Given the description of an element on the screen output the (x, y) to click on. 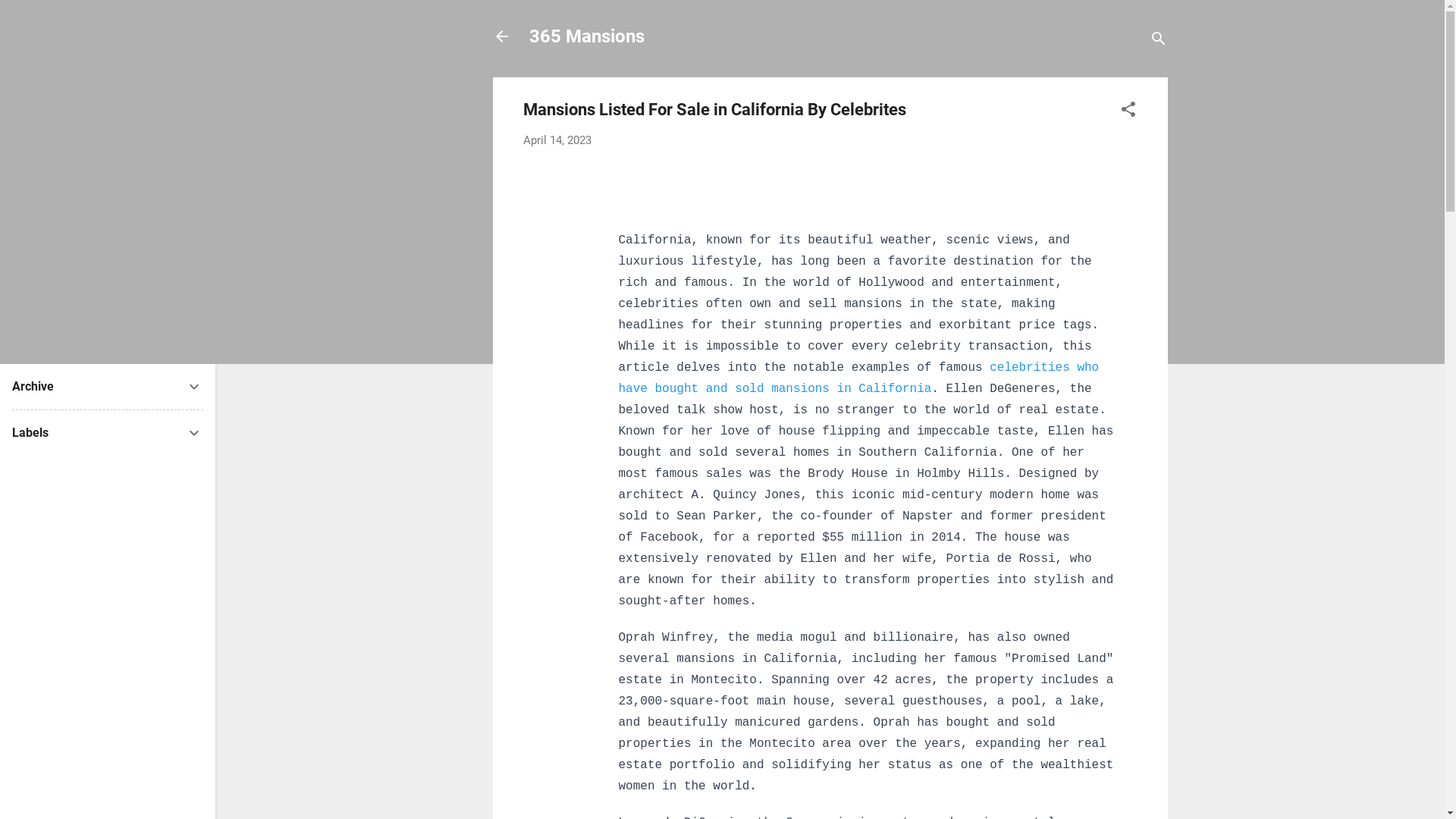
365 Mansions Element type: text (586, 36)
celebrities who have bought and sold mansions in California Element type: text (862, 377)
April 14, 2023 Element type: text (557, 140)
Search Element type: text (28, 18)
